Given the description of an element on the screen output the (x, y) to click on. 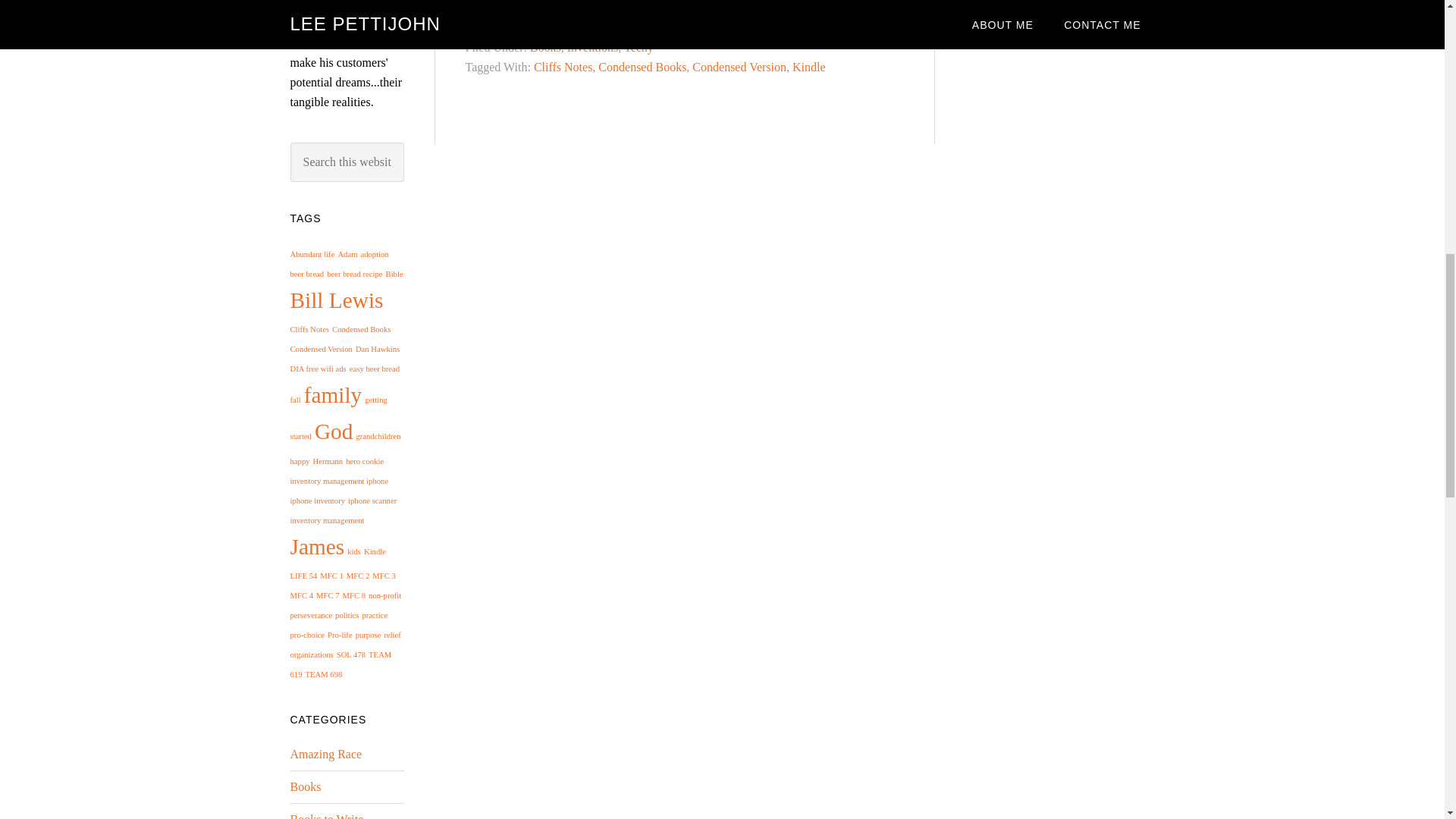
Dan Hawkins (376, 348)
Cliffs Notes (563, 66)
Condensed Books (641, 66)
Bill Lewis (335, 300)
Books (544, 47)
iphone inventory (317, 500)
Condensed Books (360, 329)
easy beer bread (373, 368)
Inventions (592, 47)
getting started (338, 417)
beer bread recipe (353, 274)
adoption (373, 254)
DIA free wifi ads (317, 368)
